Given the description of an element on the screen output the (x, y) to click on. 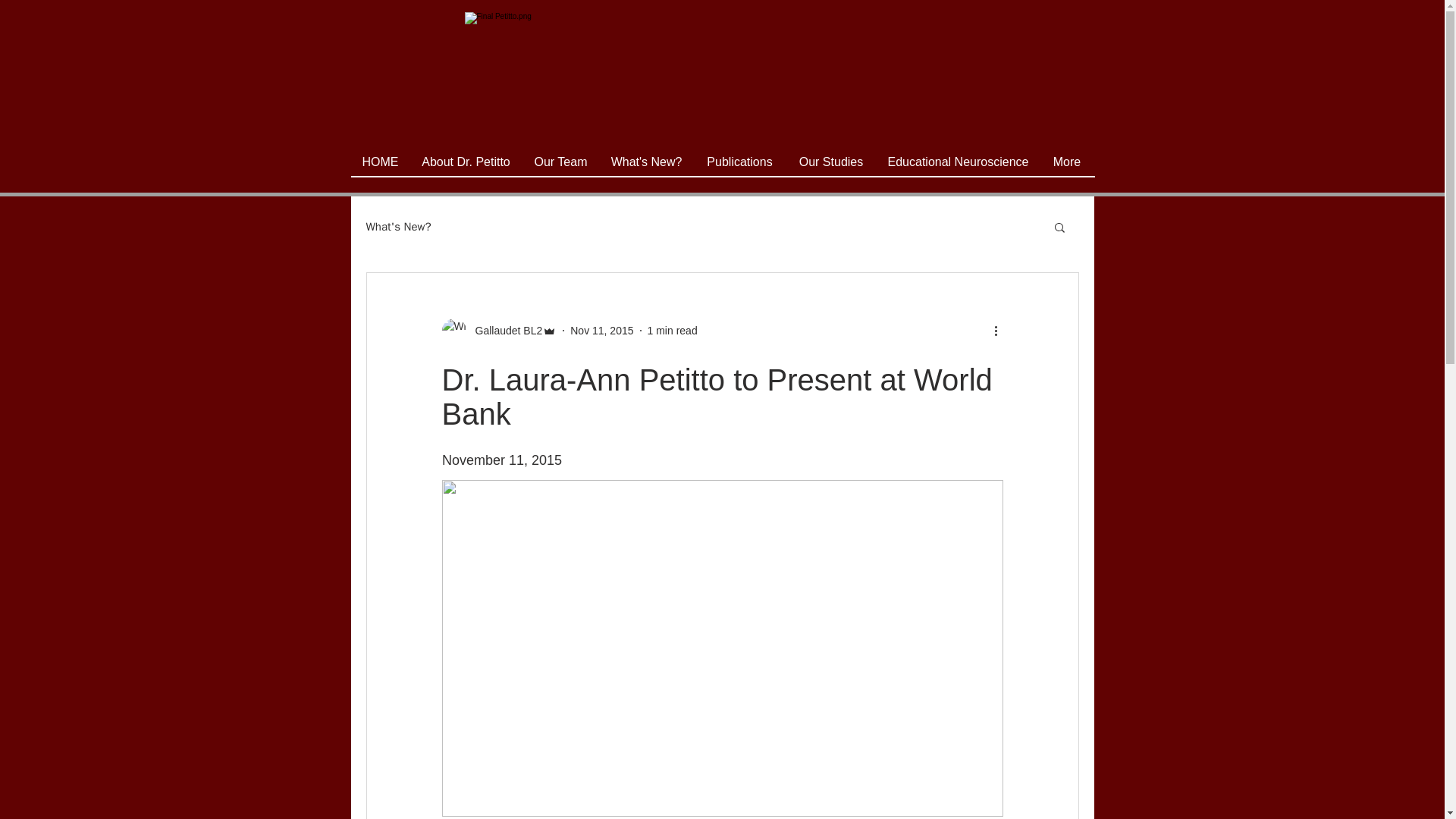
Gallaudet BL2 (498, 330)
Publications (739, 161)
Our Team (559, 161)
About Dr. Petitto (465, 161)
Educational Neuroscience (958, 161)
Nov 11, 2015 (601, 330)
1 min read (672, 330)
What's New? (397, 227)
Our Studies (831, 161)
Gallaudet BL2 (503, 330)
HOME (379, 161)
What's New? (645, 161)
